Given the description of an element on the screen output the (x, y) to click on. 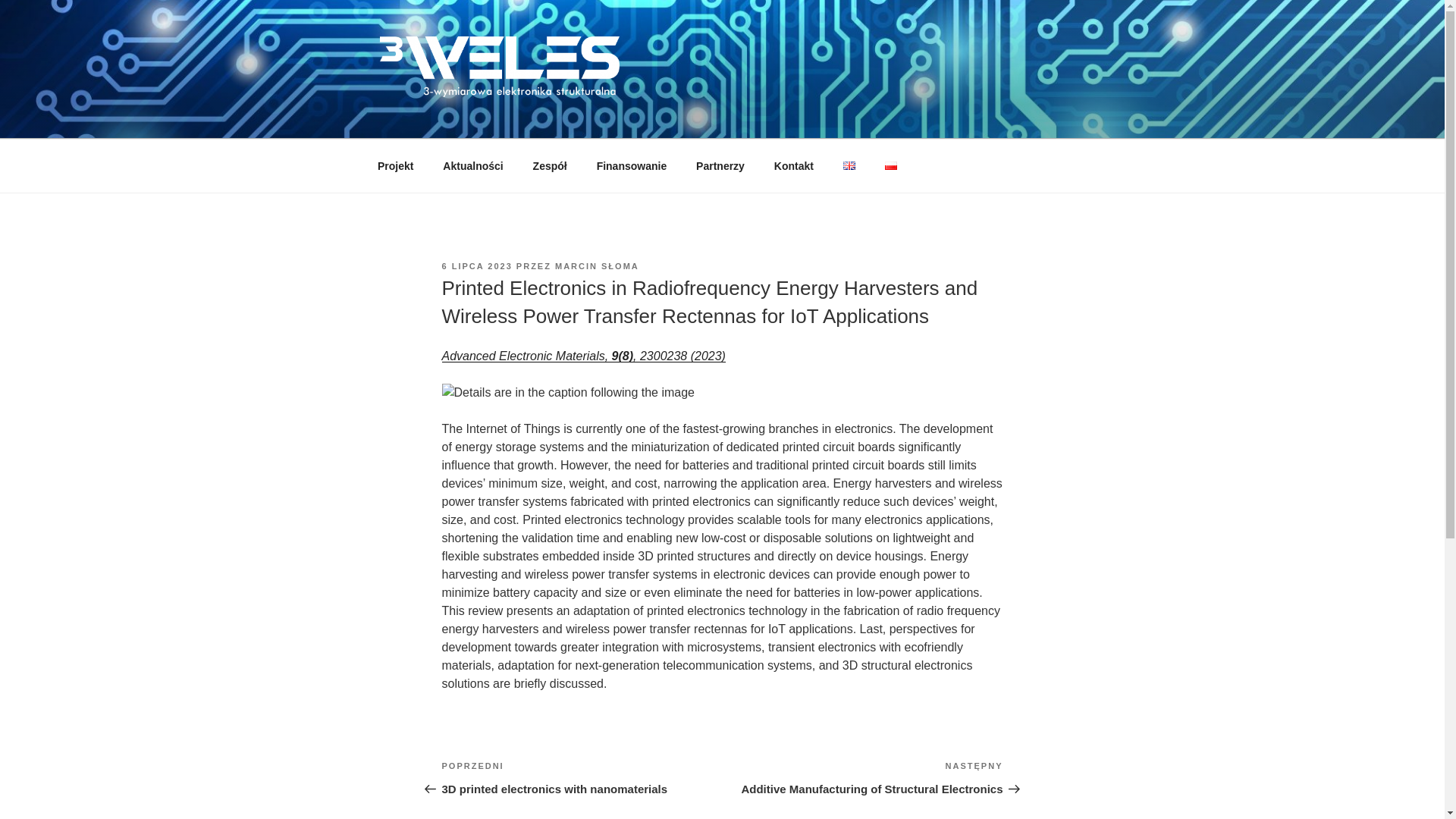
Kontakt (793, 165)
Finansowanie (631, 165)
6 LIPCA 2023 (476, 266)
Projekt (395, 165)
Details are in the caption following the image (567, 393)
WELES (432, 119)
Partnerzy (720, 165)
